Given the description of an element on the screen output the (x, y) to click on. 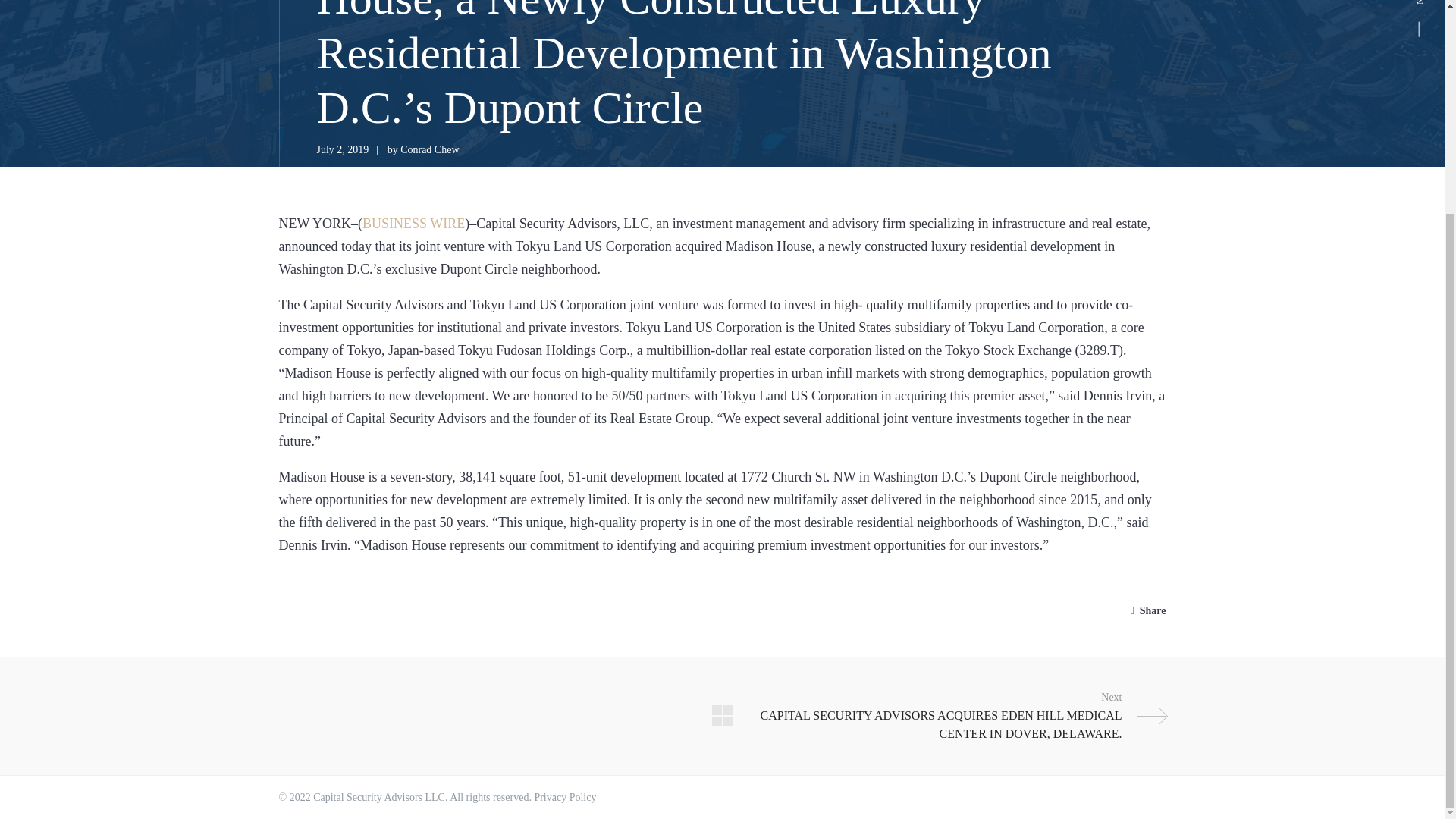
BUSINESS WIRE (413, 223)
Conrad Chew (429, 149)
Share (1145, 610)
Privacy Policy (564, 797)
Next (949, 715)
